Given the description of an element on the screen output the (x, y) to click on. 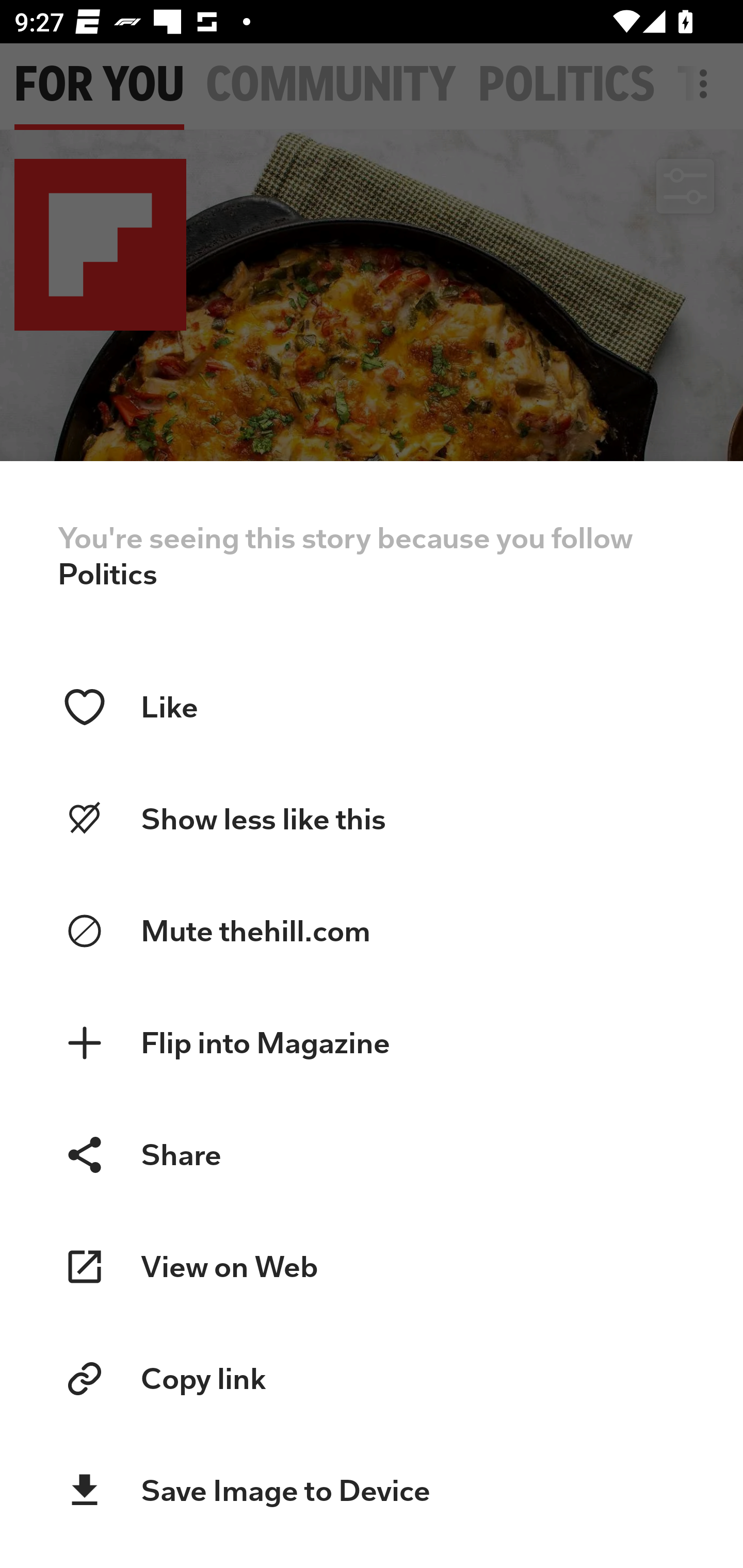
Like (371, 706)
Show less like this (371, 818)
Mute thehill.com (371, 930)
Flip into Magazine (371, 1043)
Share (371, 1154)
View on Web (371, 1266)
Copy link (371, 1378)
Save Image to Device (371, 1490)
